Given the description of an element on the screen output the (x, y) to click on. 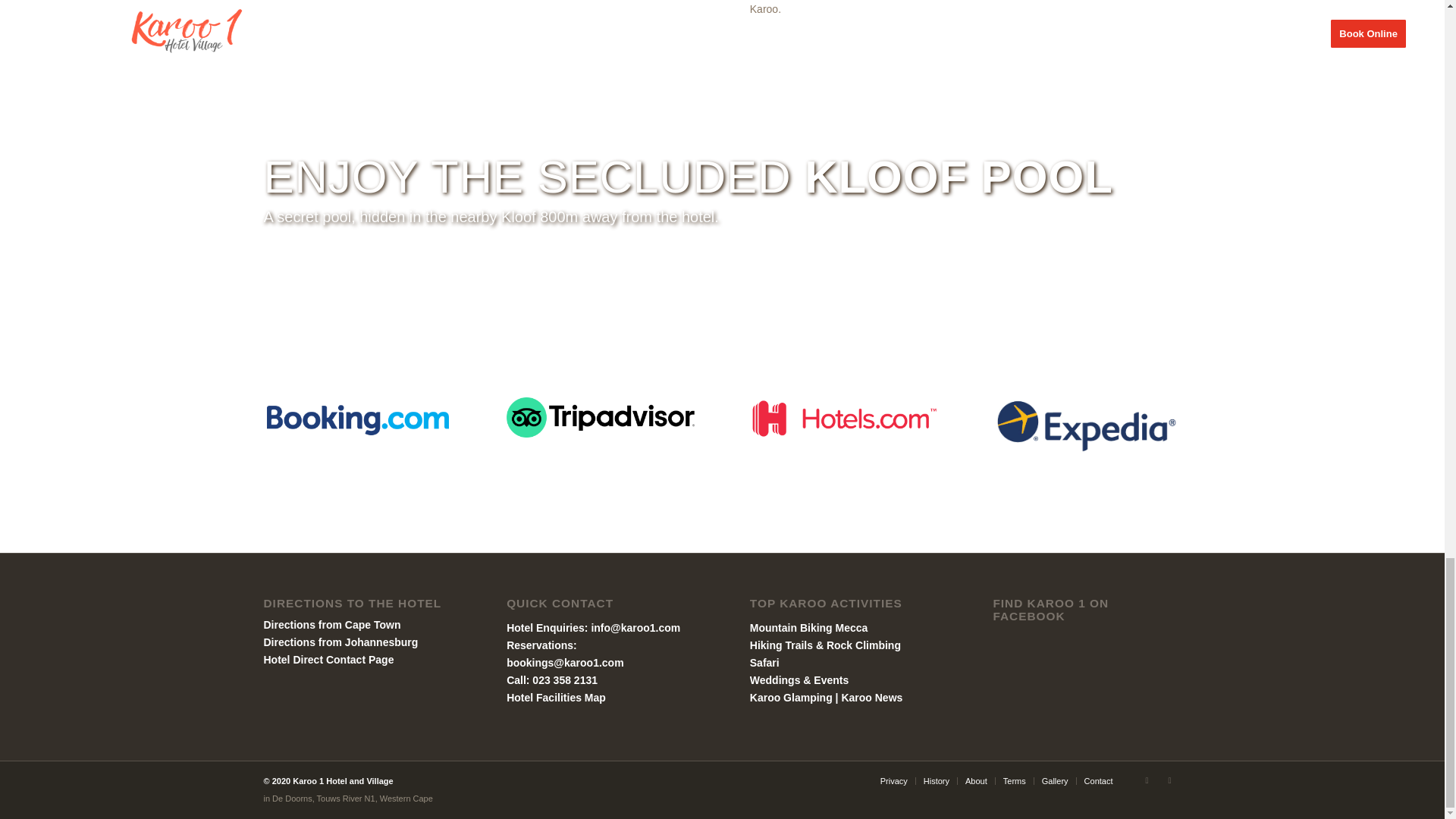
booking (357, 418)
Safari (763, 662)
Weddings (774, 680)
Hotel Direct Contact Page (328, 659)
Karoo Glamping (790, 697)
Facebook (1146, 780)
expedia (1086, 425)
tripadvisor (600, 417)
Events (830, 680)
Rock Climbing (864, 645)
